Given the description of an element on the screen output the (x, y) to click on. 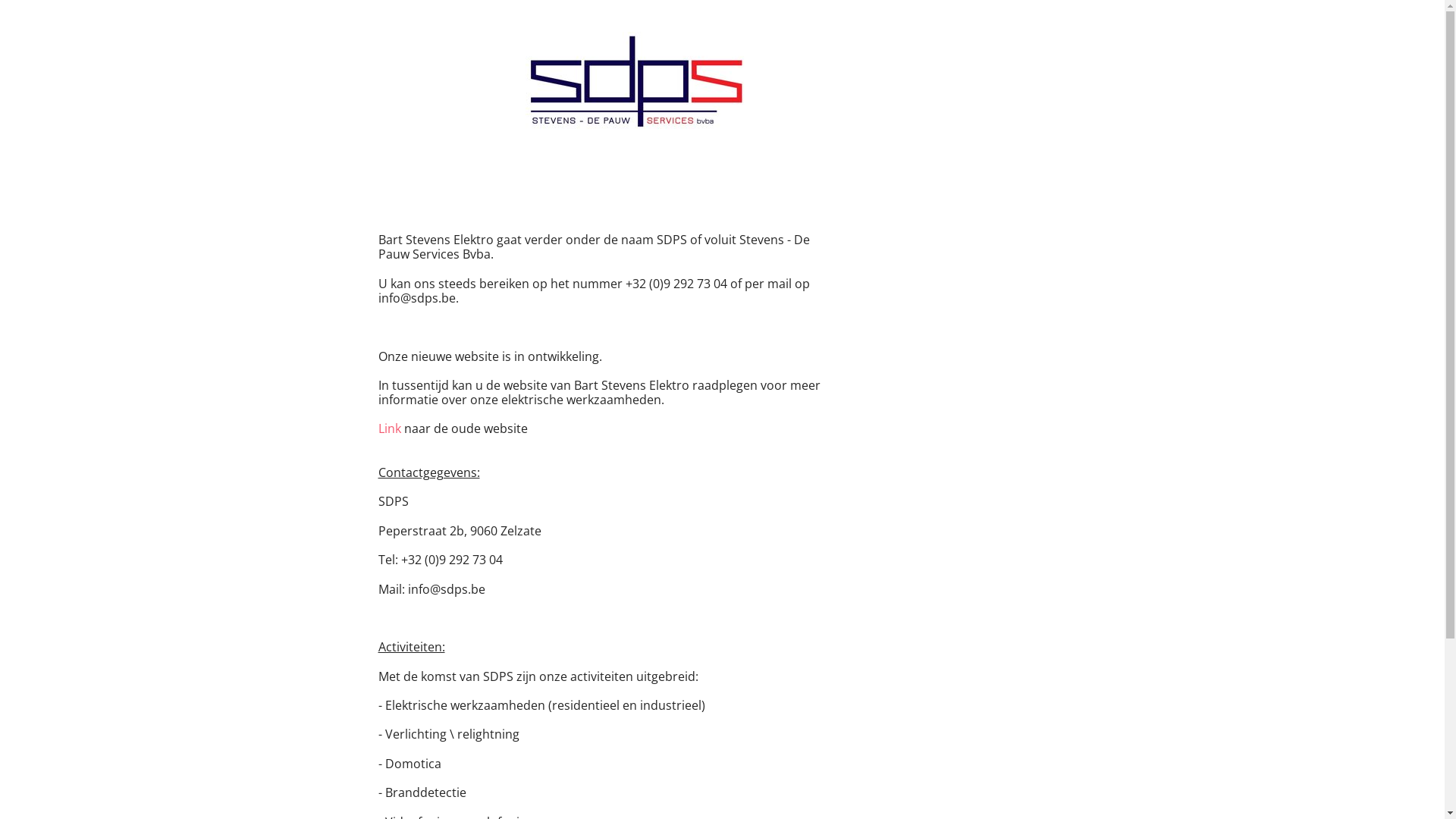
Link Element type: text (388, 428)
